Given the description of an element on the screen output the (x, y) to click on. 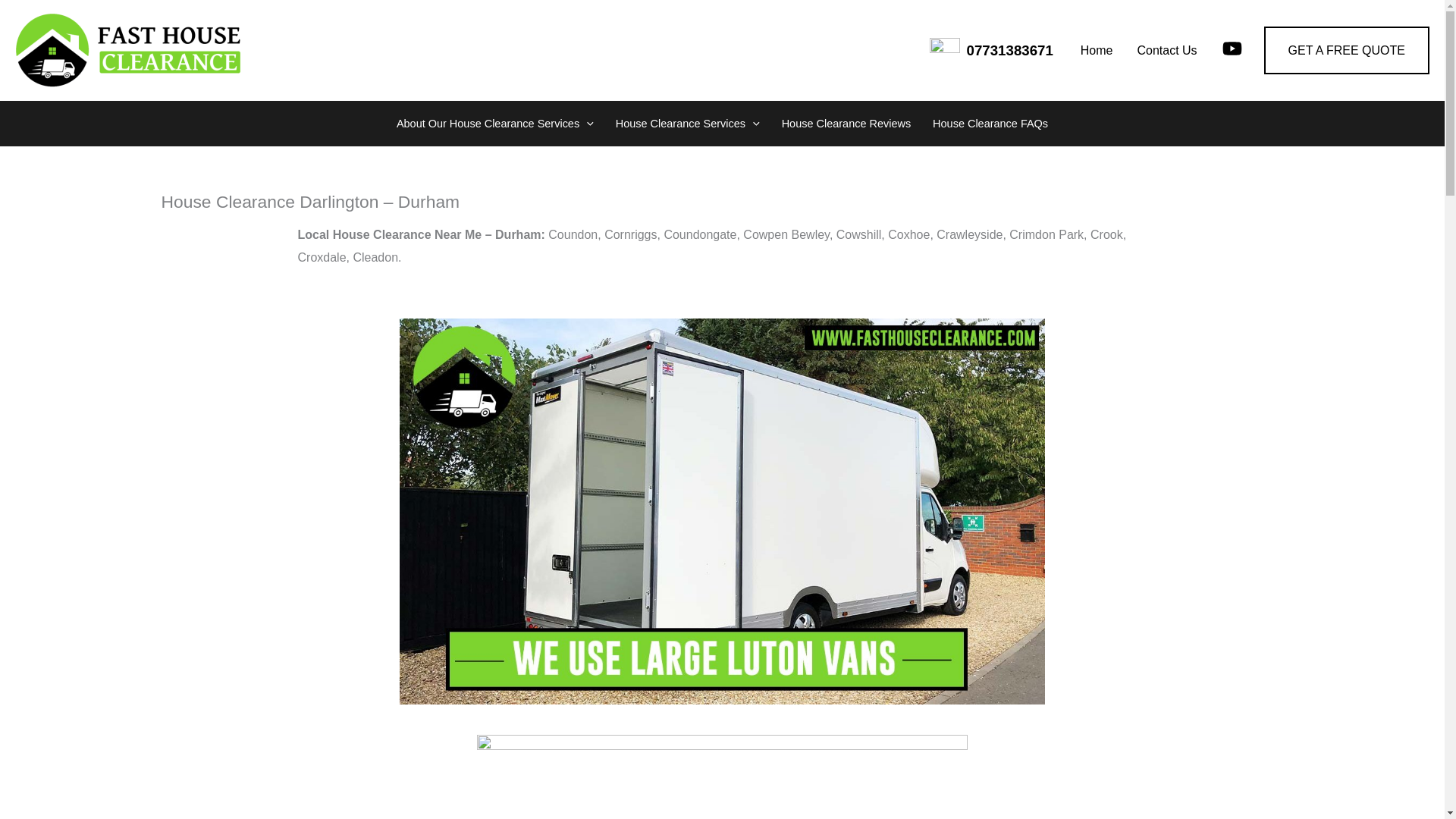
GET A FREE QUOTE (1346, 50)
House Clearance Reviews (845, 123)
Home (1096, 49)
House Clearance FAQs (990, 123)
About Our House Clearance Services (494, 123)
Contact Us (1166, 49)
House Clearance Services (687, 123)
